Given the description of an element on the screen output the (x, y) to click on. 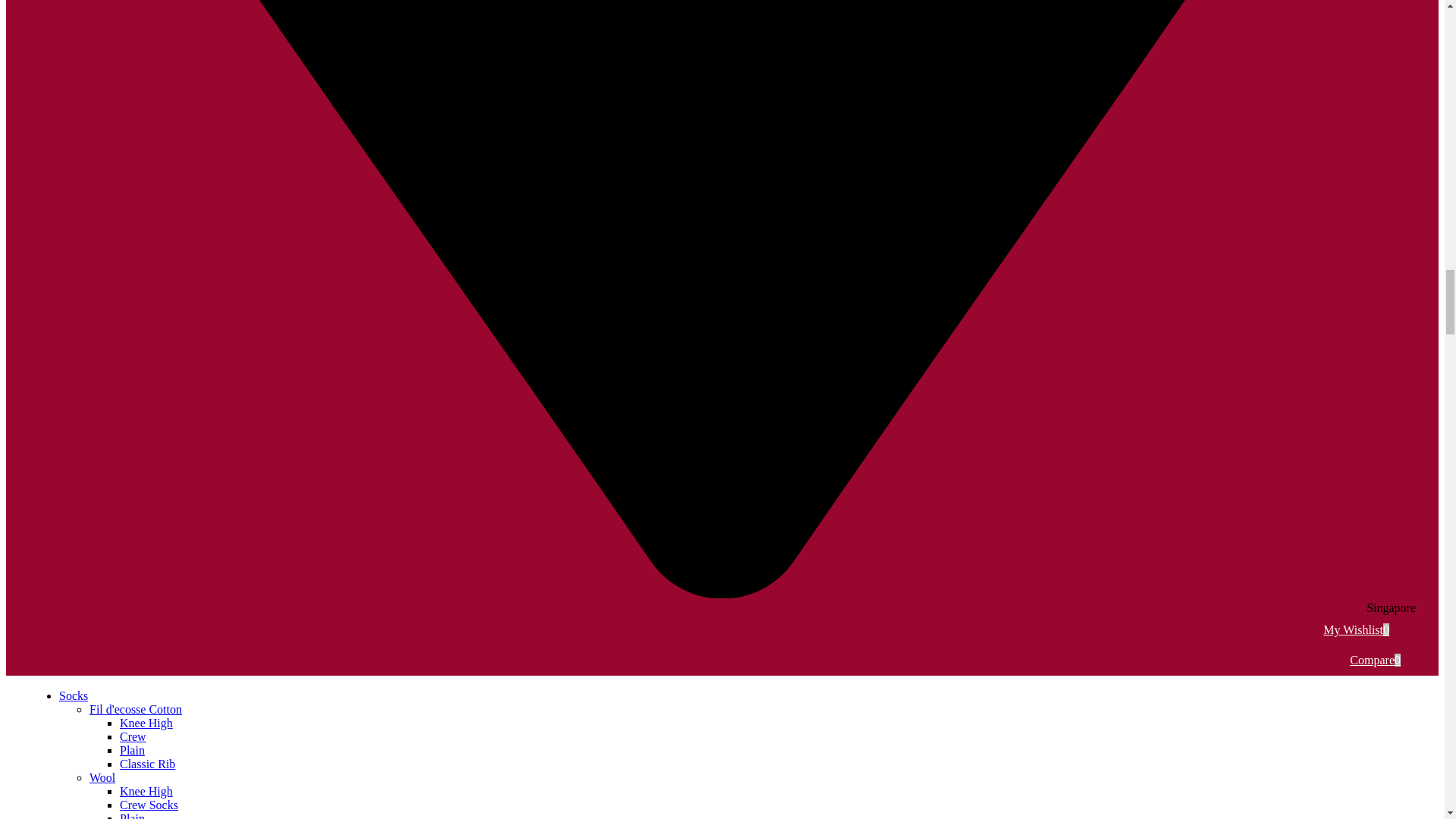
Classic Rib (146, 763)
Socks (73, 695)
My Wishlist (1364, 629)
Compare0 (1382, 659)
Compare (1382, 659)
Knee High (146, 722)
Socks (73, 695)
Classic Rib (146, 763)
Plain (131, 815)
Singapore (722, 601)
